Given the description of an element on the screen output the (x, y) to click on. 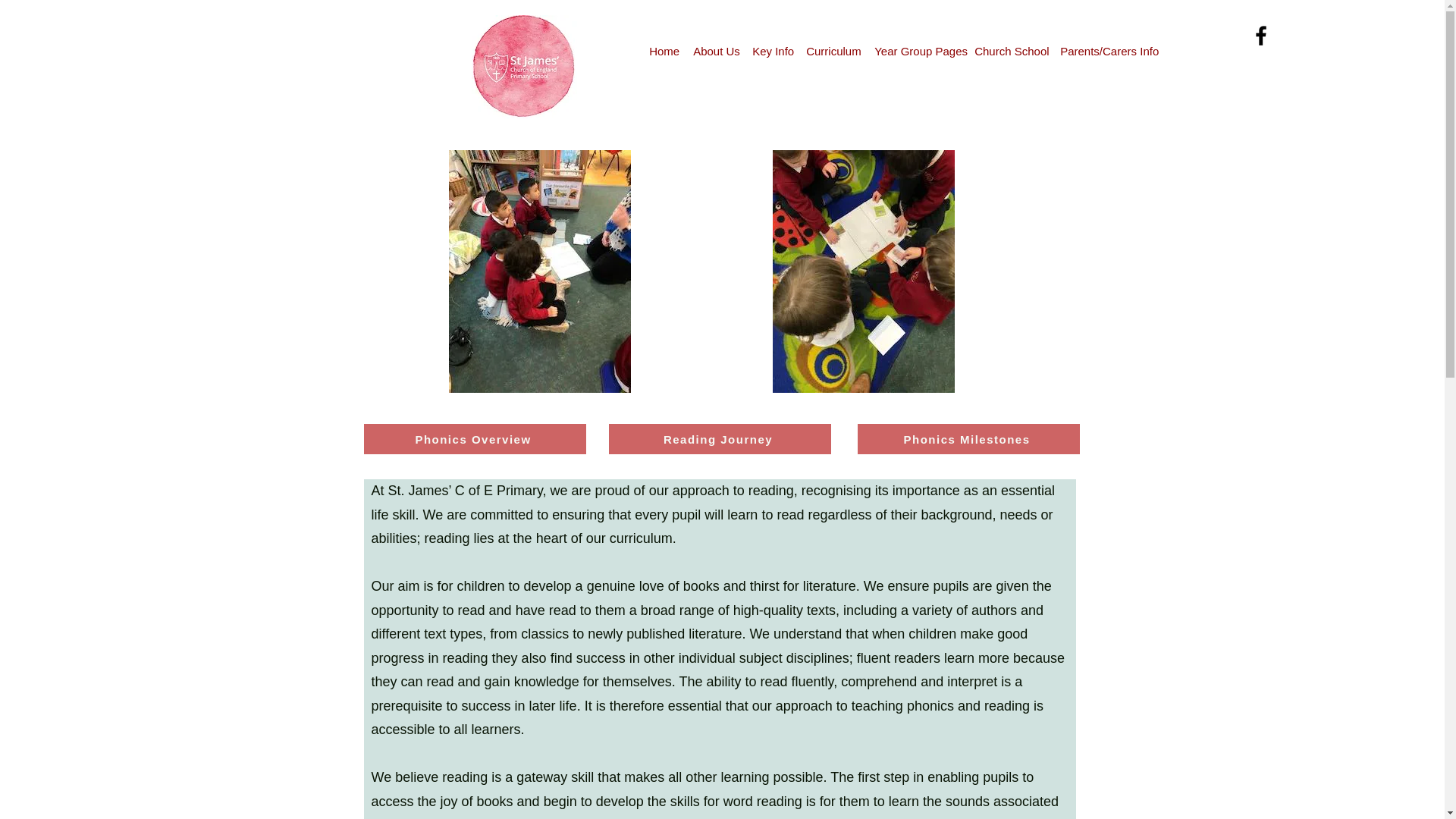
Year Group Pages (916, 51)
About Us (714, 51)
Curriculum (831, 51)
Church School (1009, 51)
Key Info (770, 51)
